Given the description of an element on the screen output the (x, y) to click on. 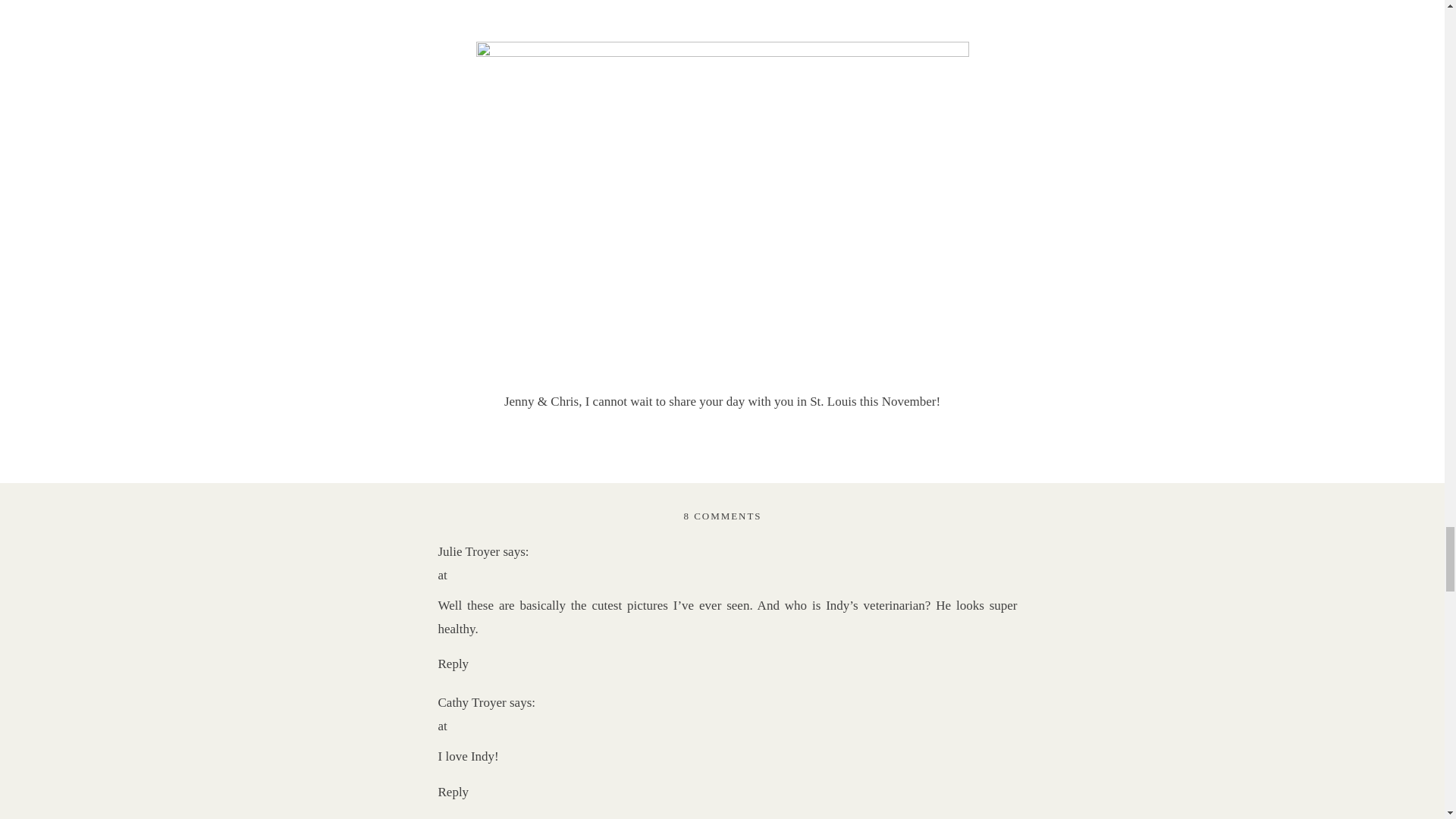
Reply (453, 663)
Reply (453, 791)
